Given the description of an element on the screen output the (x, y) to click on. 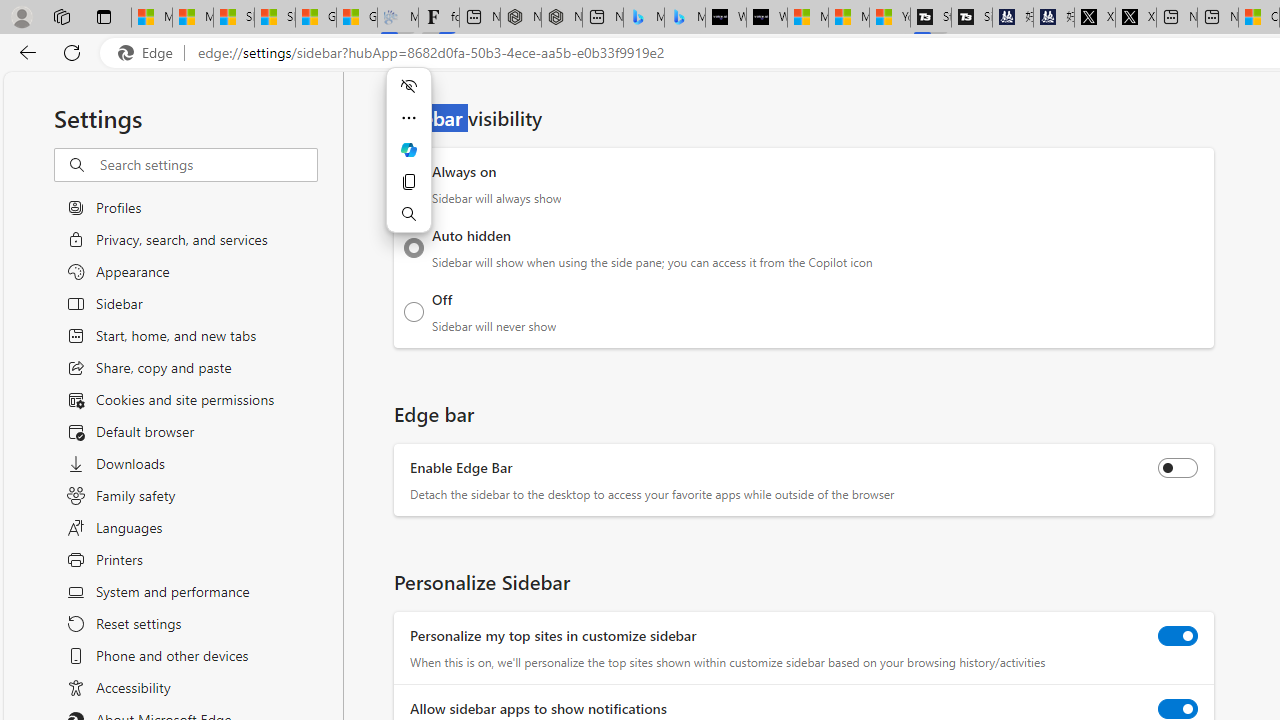
Streaming Coverage | T3 (931, 17)
Copy (408, 182)
Edge (150, 53)
Personalize my top sites in customize sidebar (1178, 635)
Mini menu on text selection (408, 149)
Search settings (207, 165)
